Given the description of an element on the screen output the (x, y) to click on. 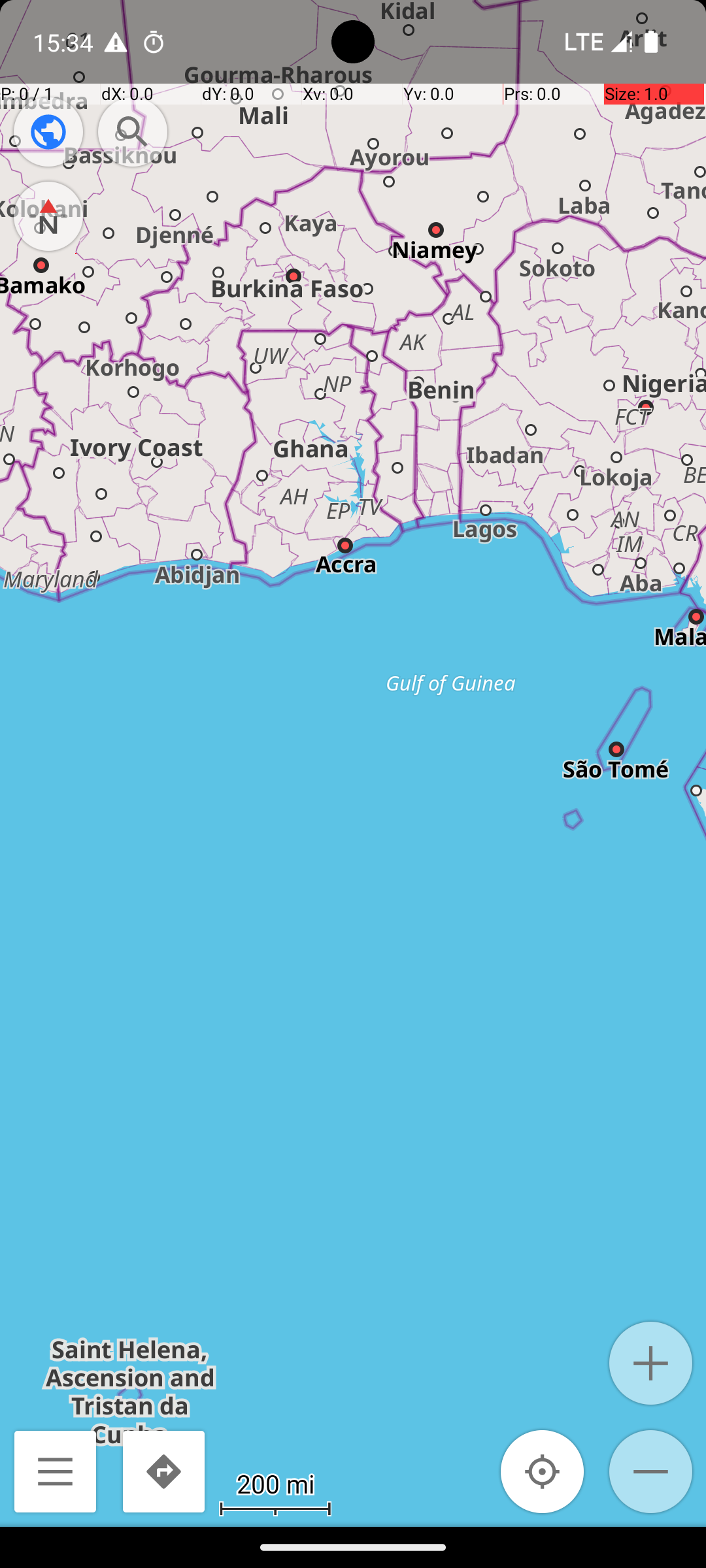
North is up Element type: android.widget.ImageButton (48, 216)
Back to menu Element type: android.widget.ImageButton (55, 1471)
Route Element type: android.widget.ImageButton (163, 1471)
200 mi Element type: android.widget.TextView (274, 1483)
Position not yet known. Element type: android.widget.ImageButton (542, 1471)
Zoom in Element type: android.widget.ImageButton (650, 1362)
Zoom out Element type: android.widget.ImageButton (650, 1471)
